Given the description of an element on the screen output the (x, y) to click on. 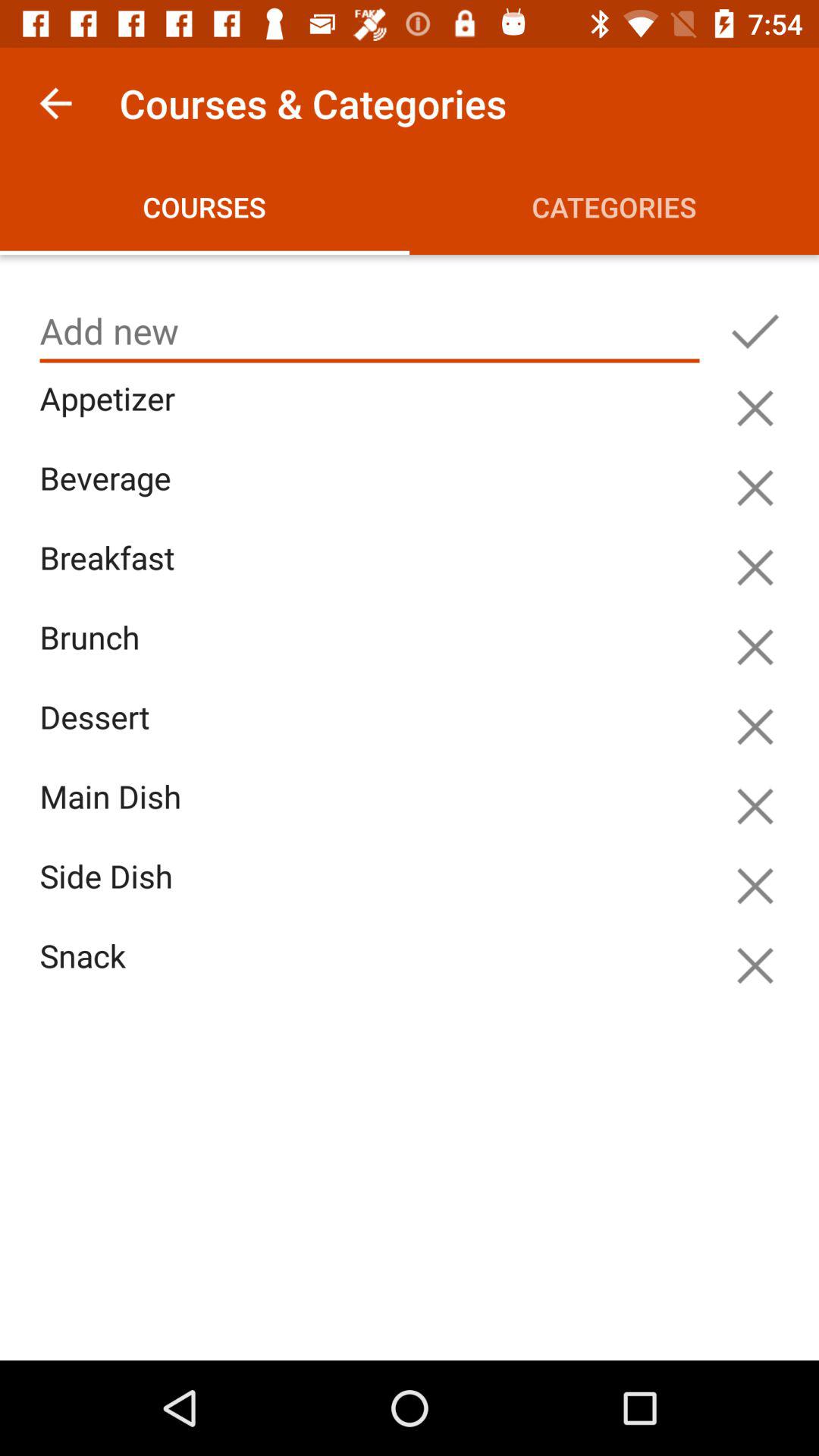
remove side dish option (755, 885)
